Given the description of an element on the screen output the (x, y) to click on. 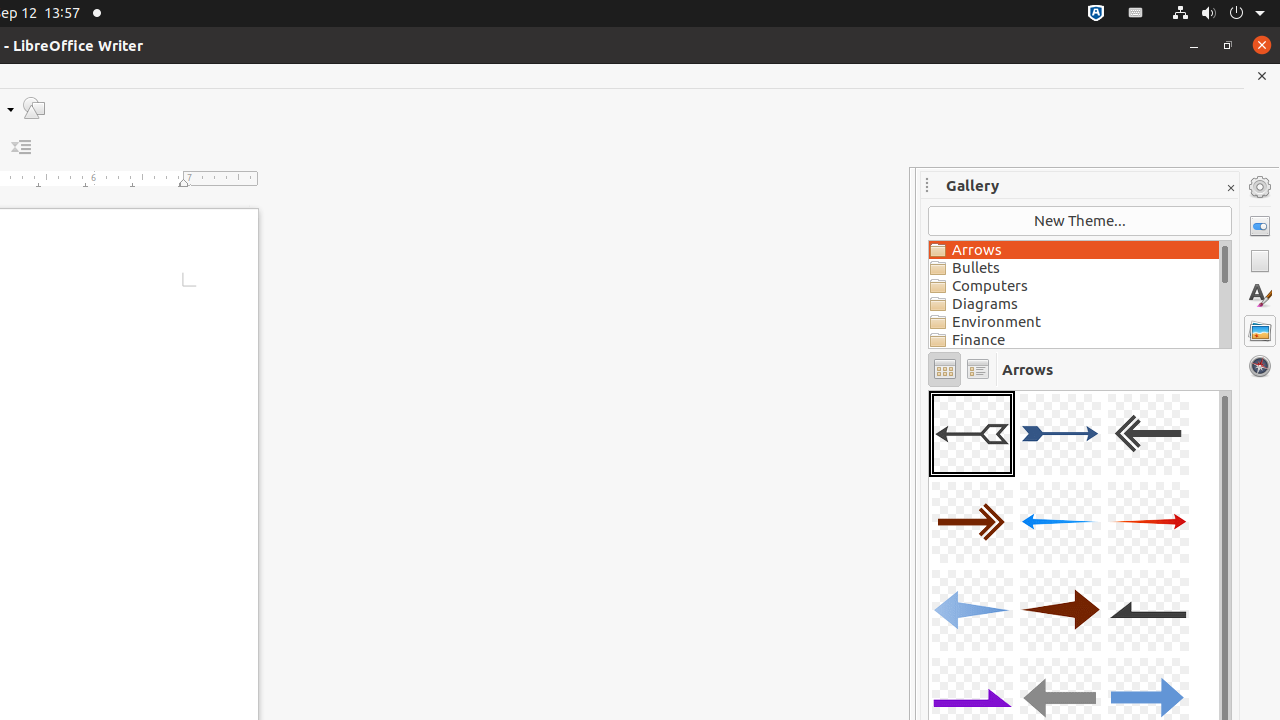
A02-Arrow-DarkBlue-Right Element type: list-item (1060, 433)
A06-Arrow-Red-Right Element type: list-item (1148, 522)
Gallery Element type: radio-button (1260, 331)
Computers Element type: list-item (1074, 286)
Properties Element type: radio-button (1260, 226)
